Given the description of an element on the screen output the (x, y) to click on. 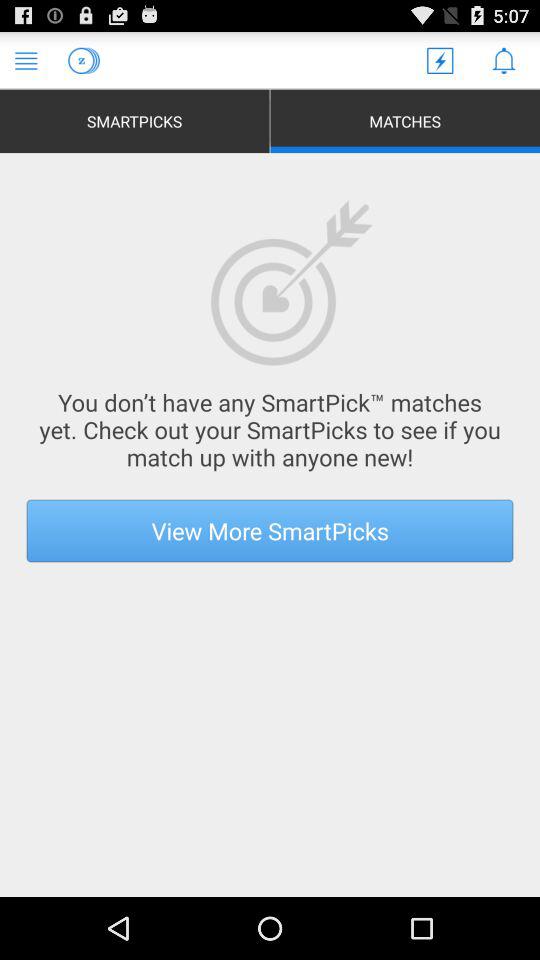
main menu (26, 60)
